Given the description of an element on the screen output the (x, y) to click on. 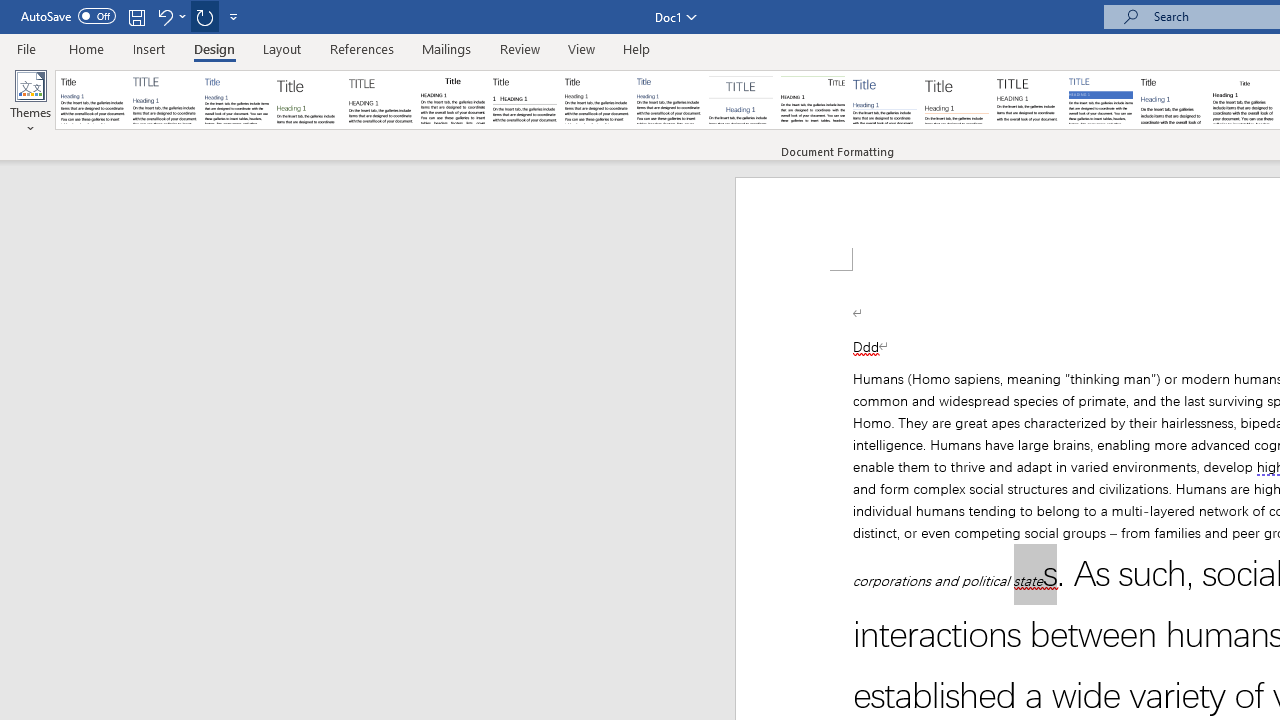
Undo Apply Quick Style Set (170, 15)
Themes (30, 102)
Black & White (Classic) (452, 100)
Document (93, 100)
